Given the description of an element on the screen output the (x, y) to click on. 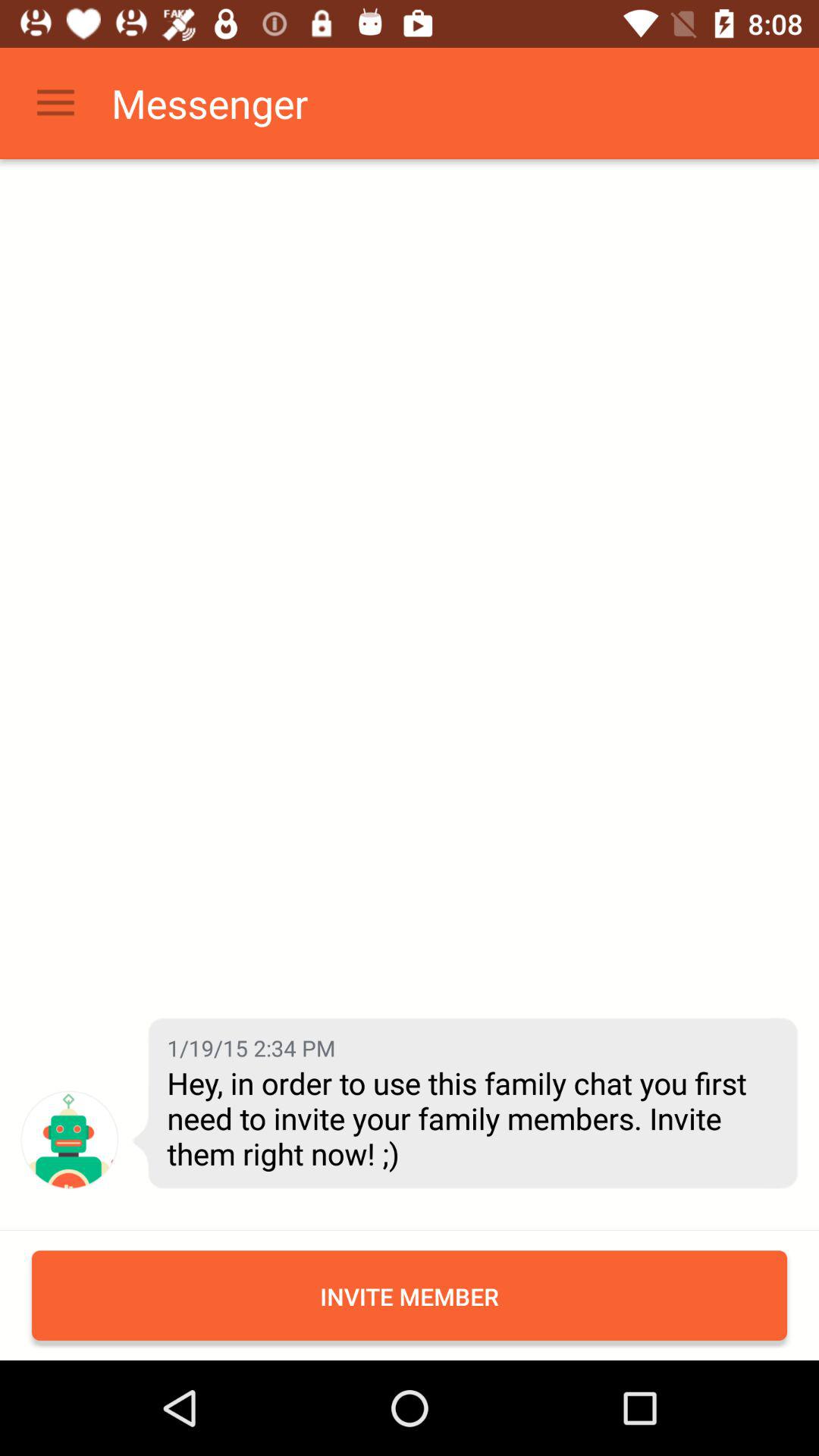
press the icon next to the messenger item (55, 103)
